Given the description of an element on the screen output the (x, y) to click on. 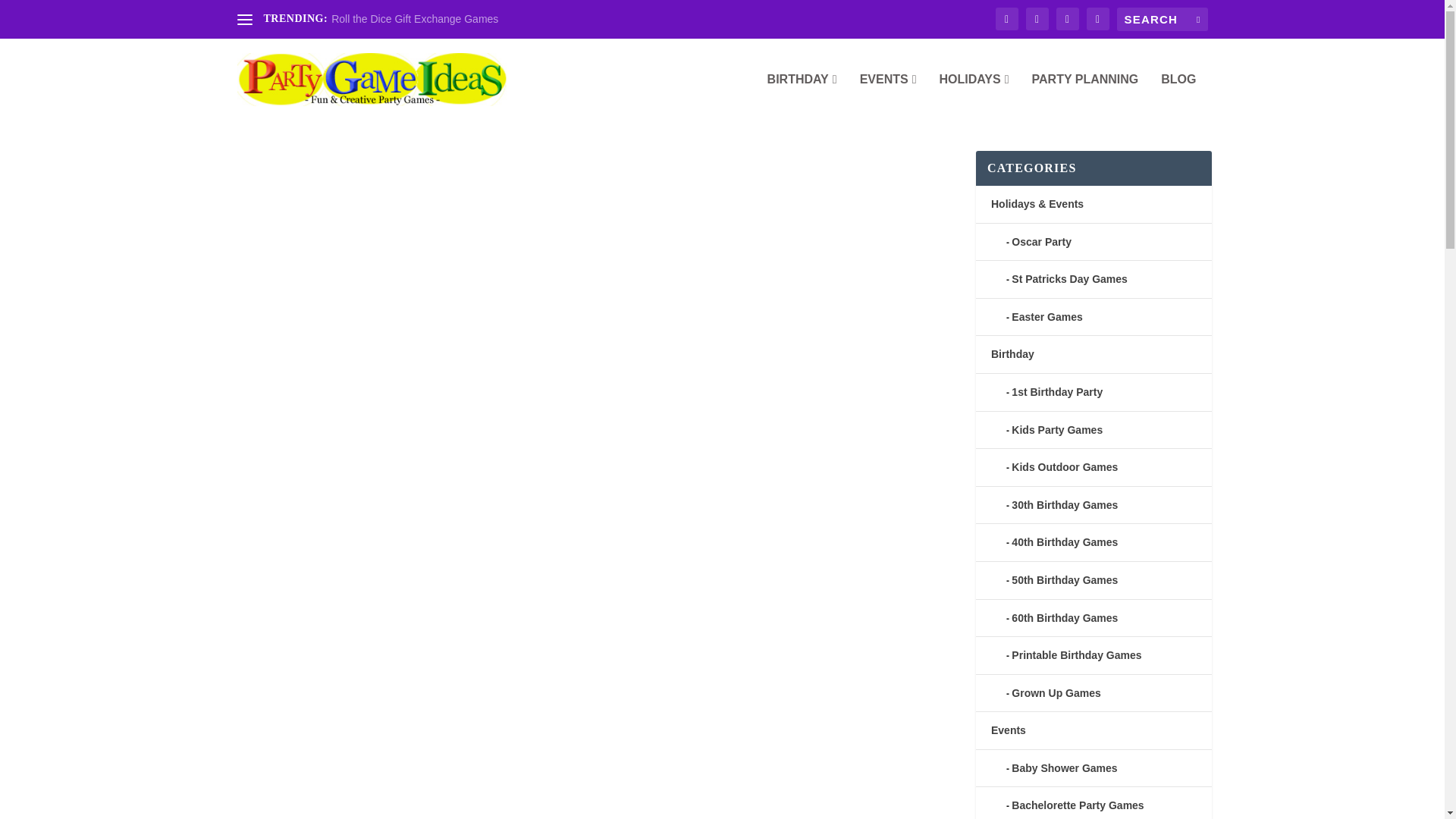
Search for: (1161, 19)
BIRTHDAY (802, 96)
Roll the Dice Gift Exchange Games (414, 19)
HOLIDAYS (974, 96)
EVENTS (888, 96)
